Given the description of an element on the screen output the (x, y) to click on. 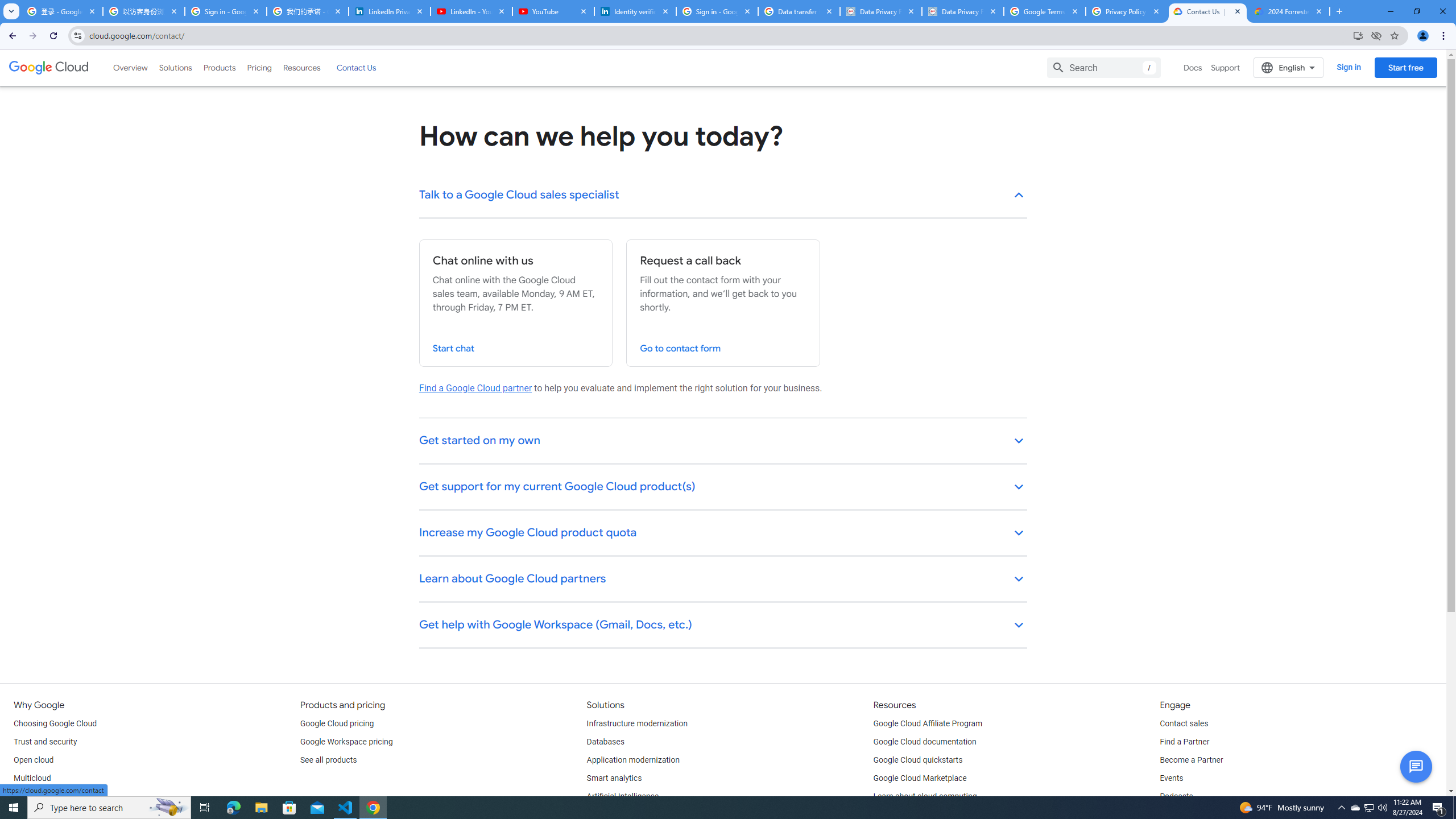
Contact Us (355, 67)
Podcasts (1175, 796)
Smart analytics (614, 778)
Artificial Intelligence (622, 796)
LinkedIn Privacy Policy (389, 11)
Google Cloud Affiliate Program (927, 723)
